Given the description of an element on the screen output the (x, y) to click on. 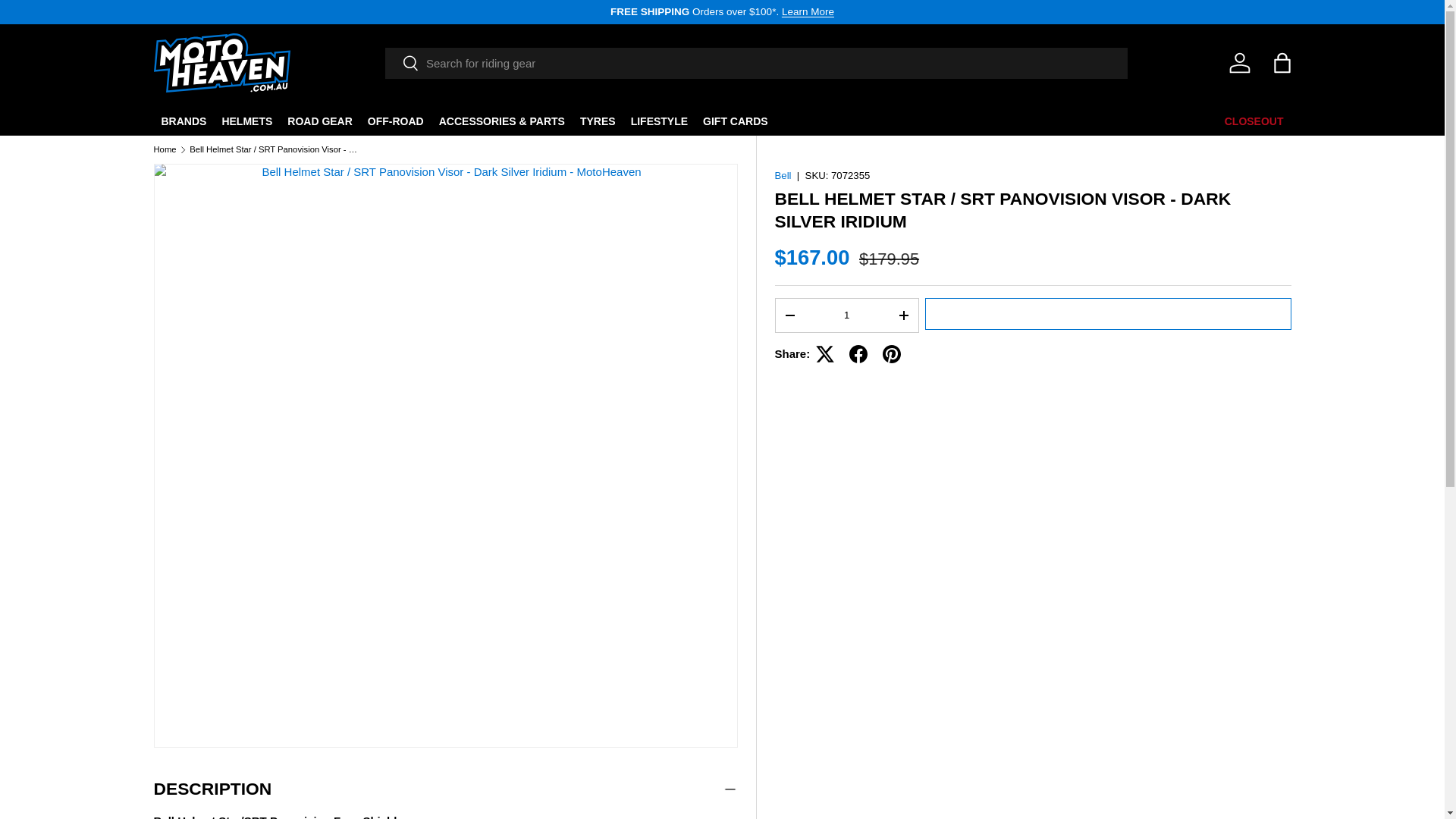
Tweet on X (824, 354)
SKIP TO CONTENT (68, 21)
Share on Facebook (858, 354)
BRANDS (183, 121)
Shipping Policy (807, 11)
Log in (1239, 62)
Bag (1281, 62)
1 (845, 315)
Learn More (807, 11)
Search (402, 63)
